Given the description of an element on the screen output the (x, y) to click on. 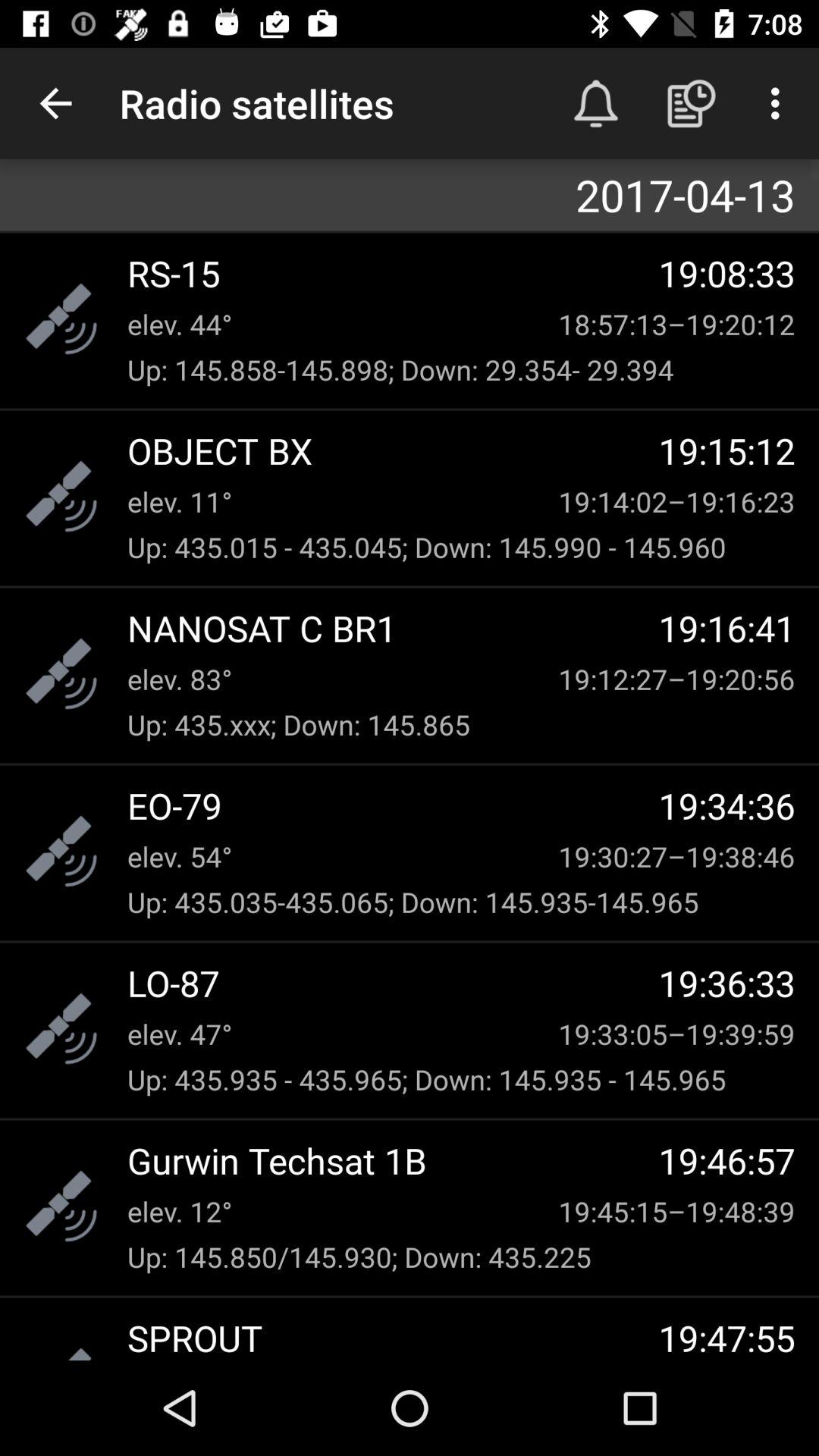
open icon above the 2017-04-13 (691, 103)
